Given the description of an element on the screen output the (x, y) to click on. 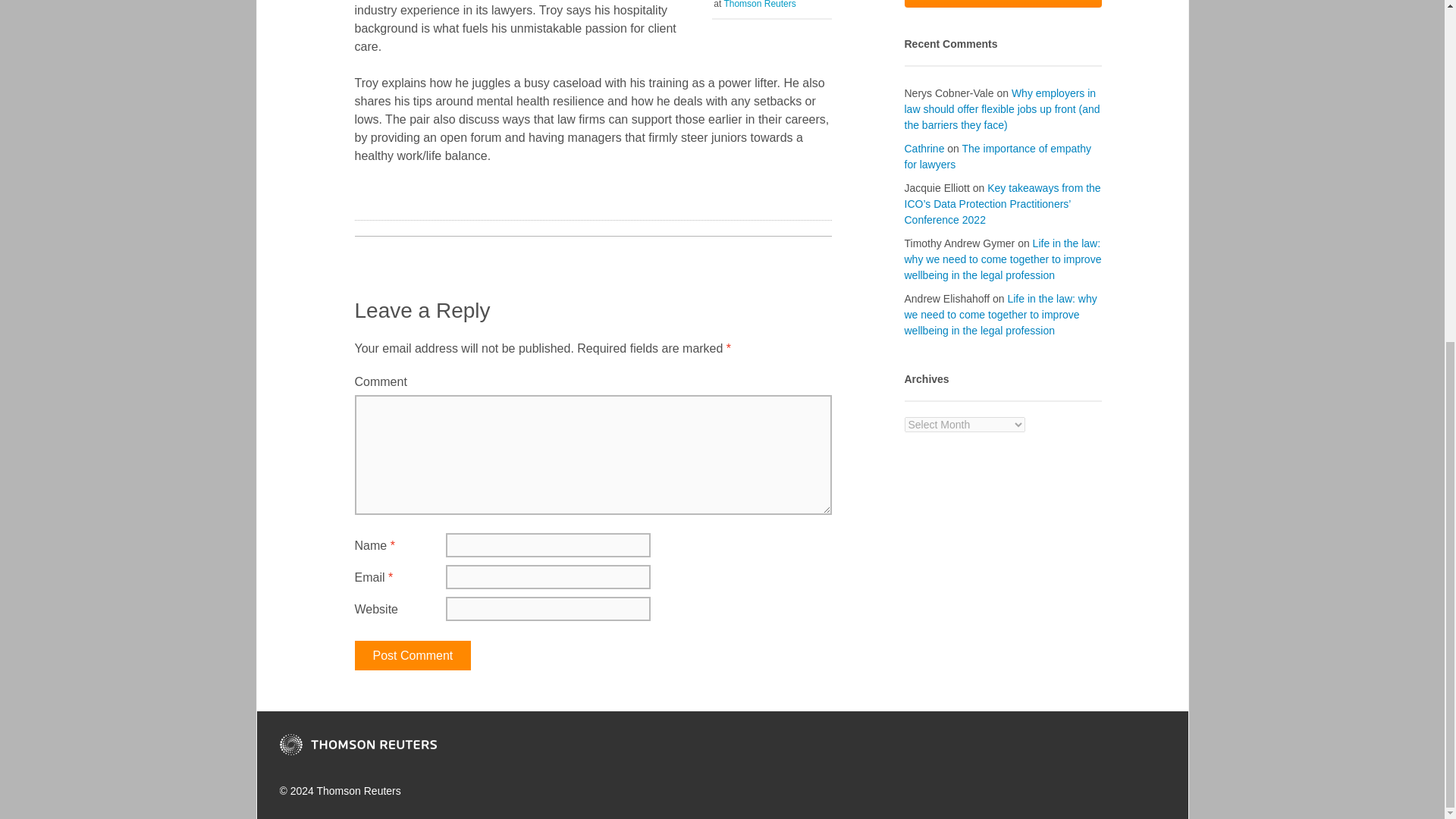
Post Comment (413, 655)
The importance of empathy for lawyers (997, 156)
Thomson Reuters (1002, 3)
Post Comment (758, 4)
Cathrine (413, 655)
Thomson Reuters (923, 148)
